Given the description of an element on the screen output the (x, y) to click on. 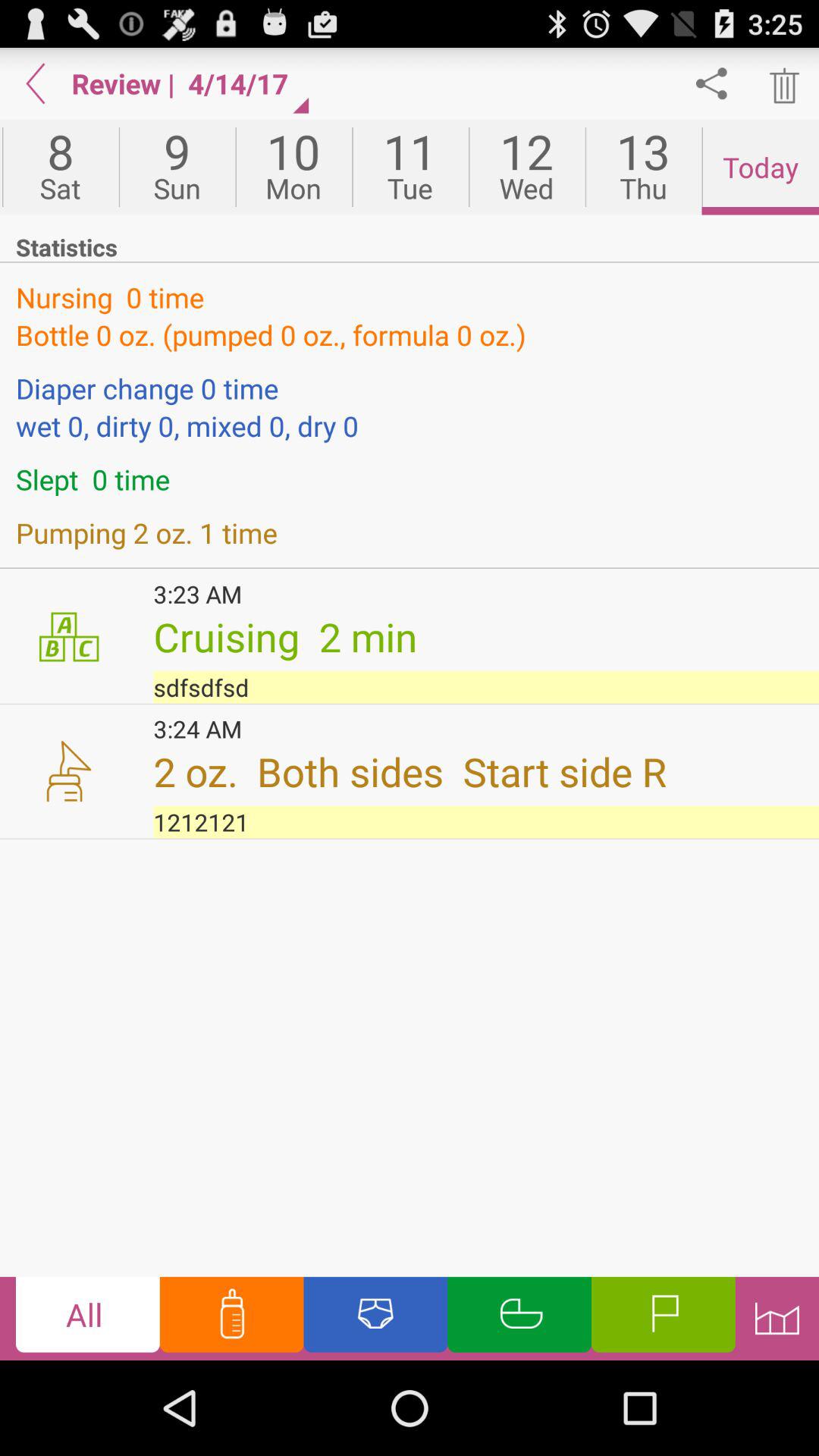
show chart (777, 1318)
